Given the description of an element on the screen output the (x, y) to click on. 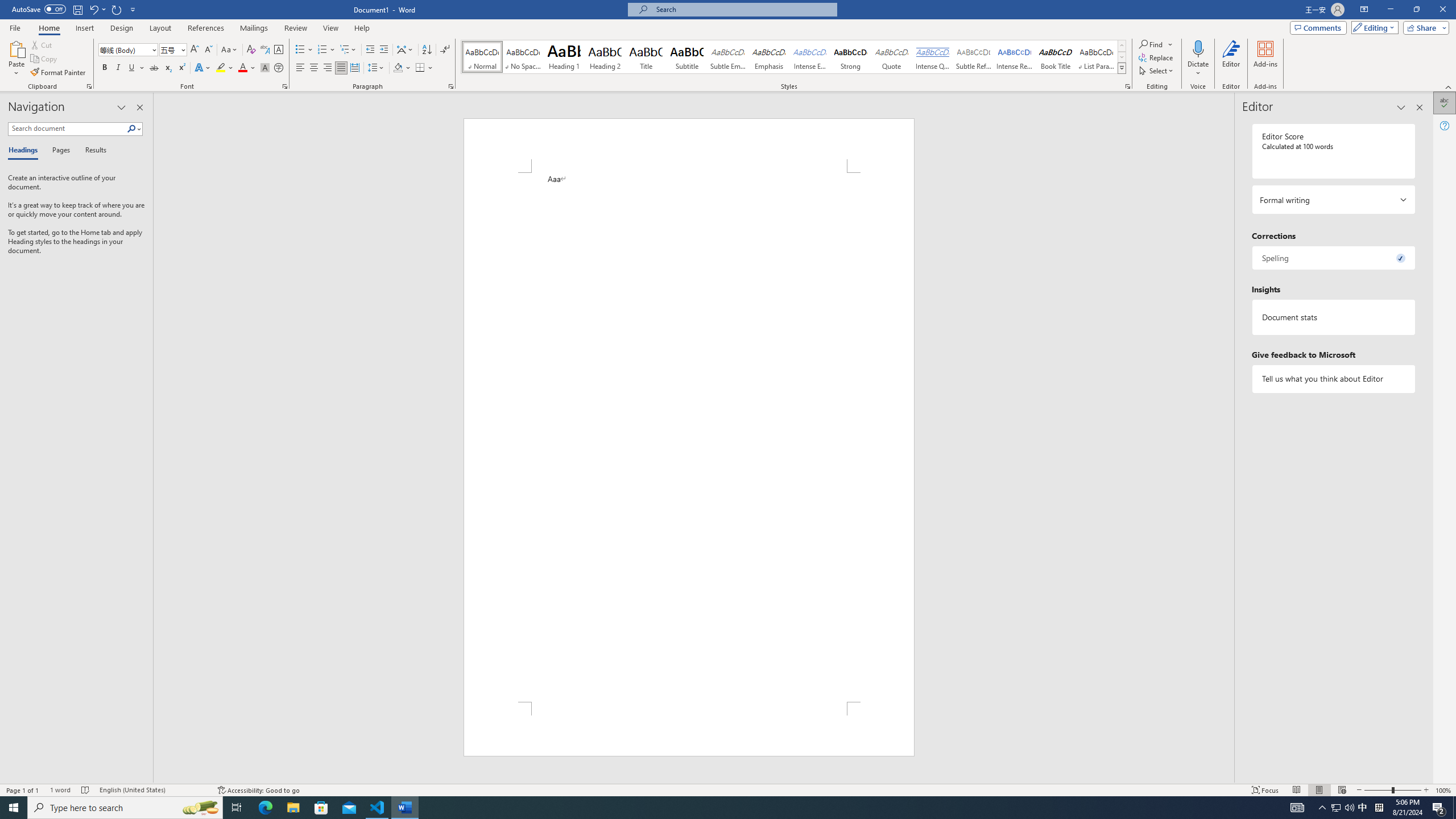
Shading (402, 67)
Book Title (1055, 56)
Results (91, 150)
Italic (118, 67)
